Given the description of an element on the screen output the (x, y) to click on. 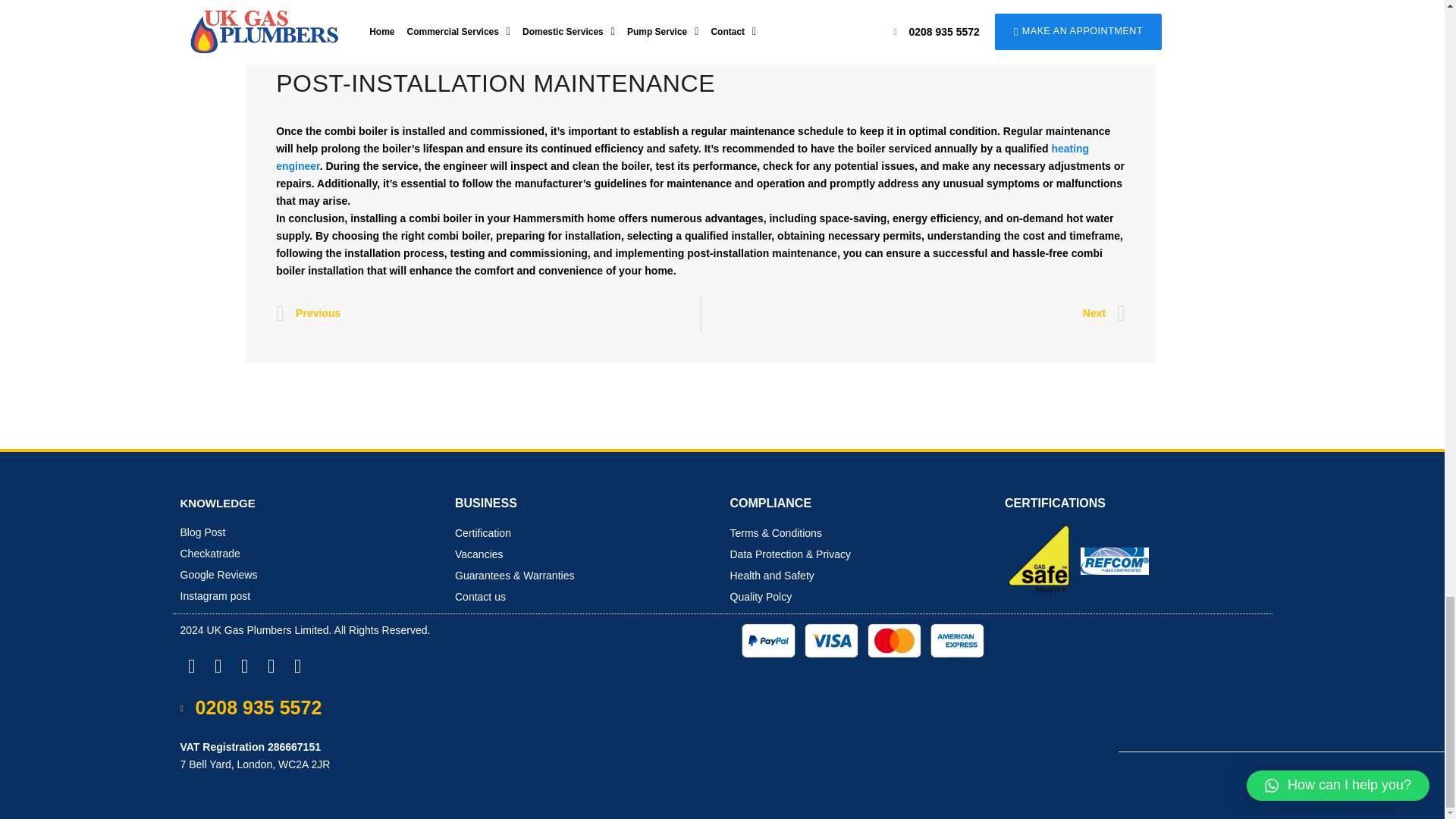
Heating Engineer Guildford (682, 156)
